Given the description of an element on the screen output the (x, y) to click on. 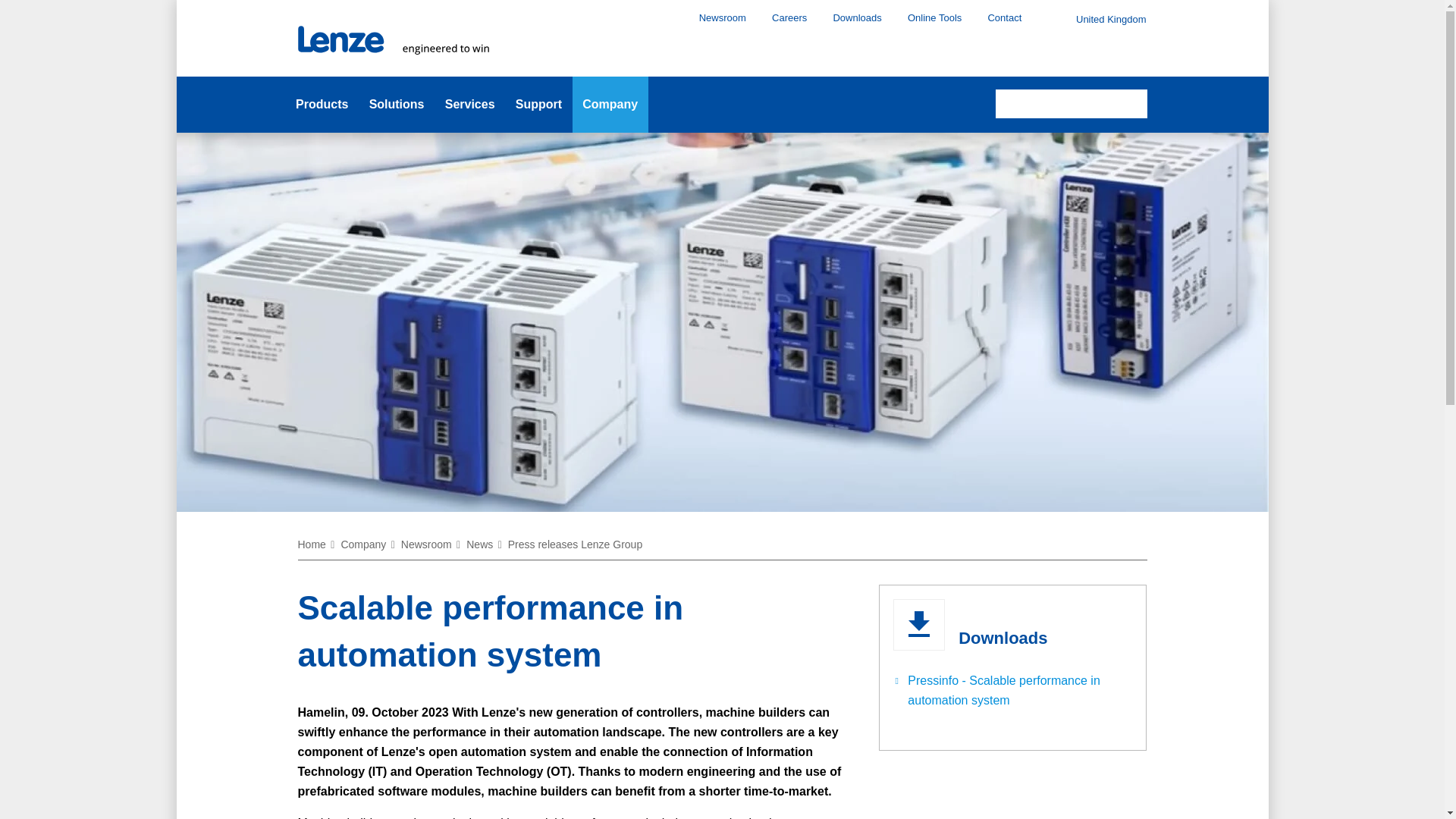
Downloads (856, 17)
Online Tools (934, 17)
Careers (788, 17)
Newsroom (722, 17)
Contact (1004, 17)
Products (321, 104)
